Given the description of an element on the screen output the (x, y) to click on. 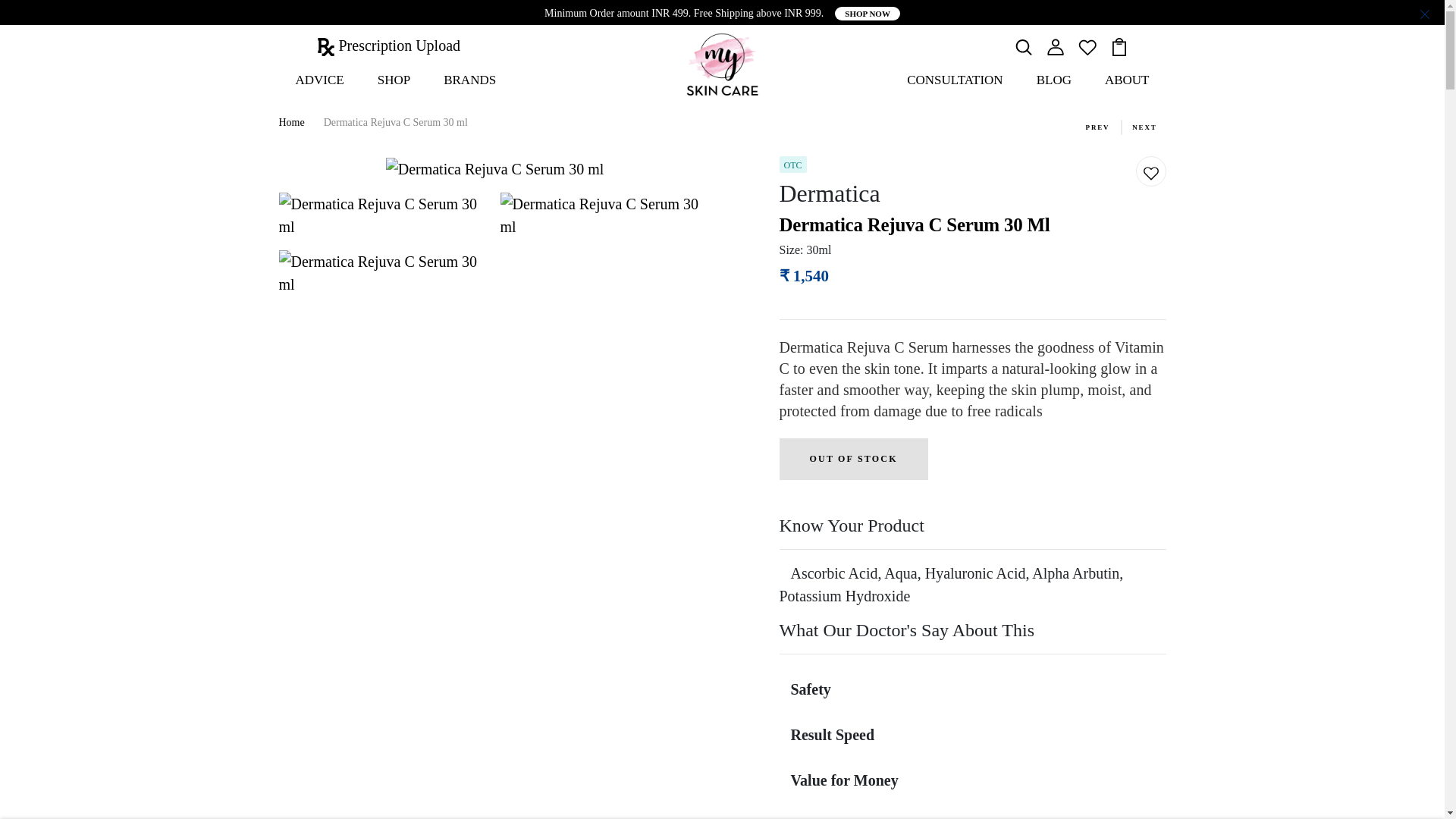
Advice (319, 80)
ADVICE (319, 80)
SHOP (393, 80)
Prescription Upload (389, 45)
SHOP NOW (866, 13)
